Given the description of an element on the screen output the (x, y) to click on. 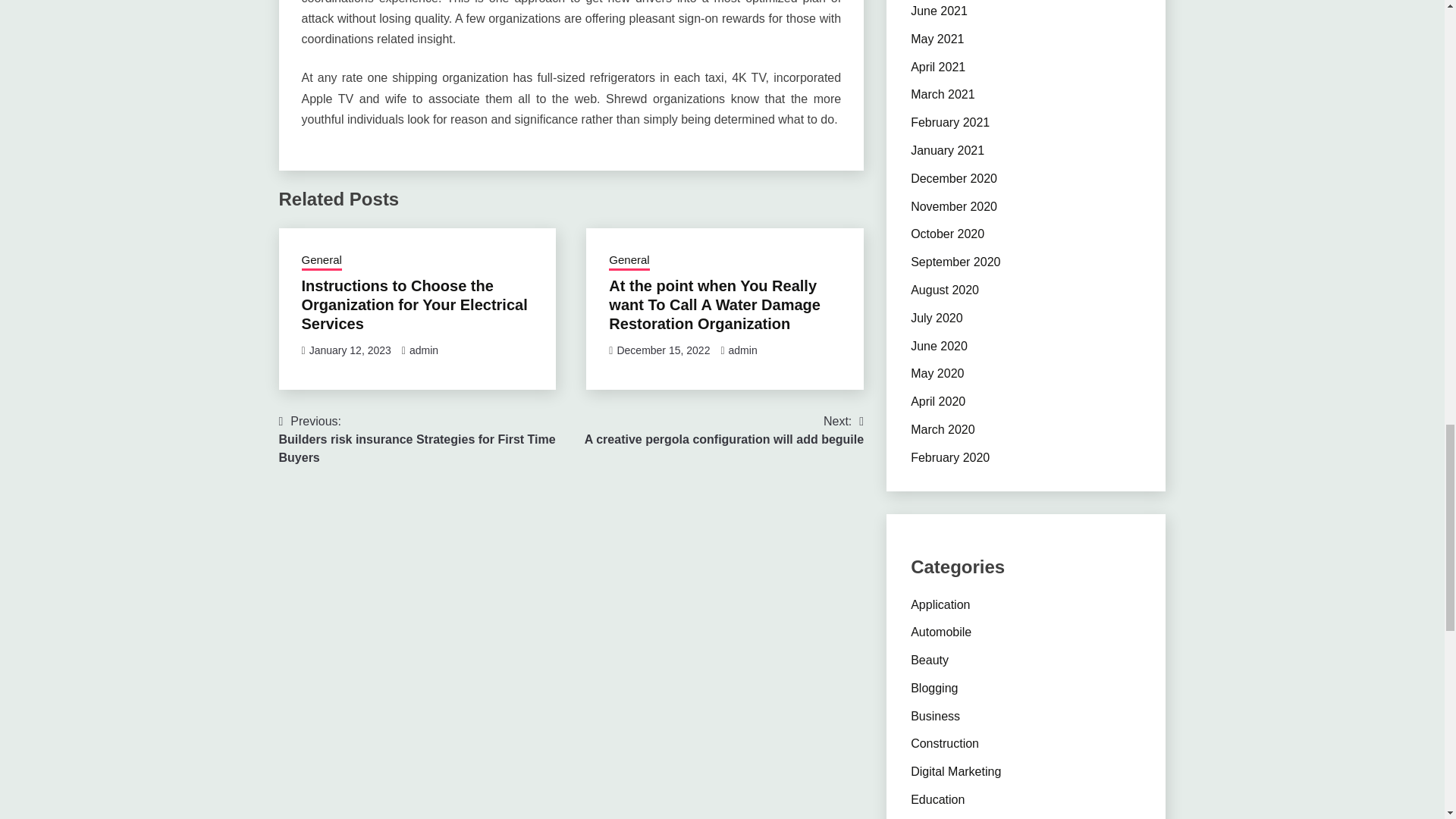
December 15, 2022 (662, 349)
General (321, 261)
admin (724, 430)
General (423, 349)
admin (628, 261)
January 12, 2023 (743, 349)
